Given the description of an element on the screen output the (x, y) to click on. 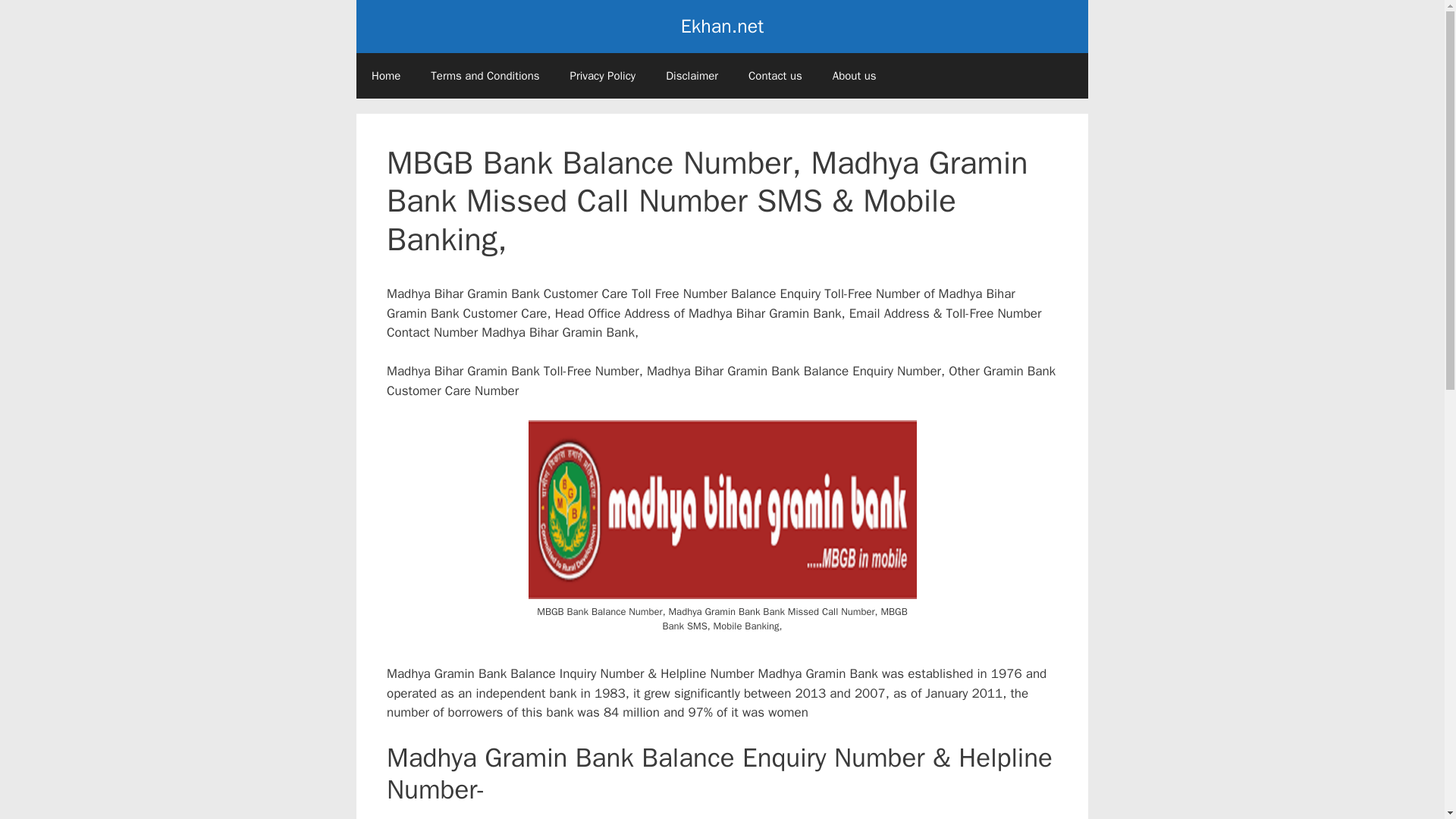
Contact us (774, 75)
Terms and Conditions (484, 75)
Disclaimer (691, 75)
About us (853, 75)
Ekhan.net (721, 25)
Privacy Policy (602, 75)
Home (385, 75)
